Given the description of an element on the screen output the (x, y) to click on. 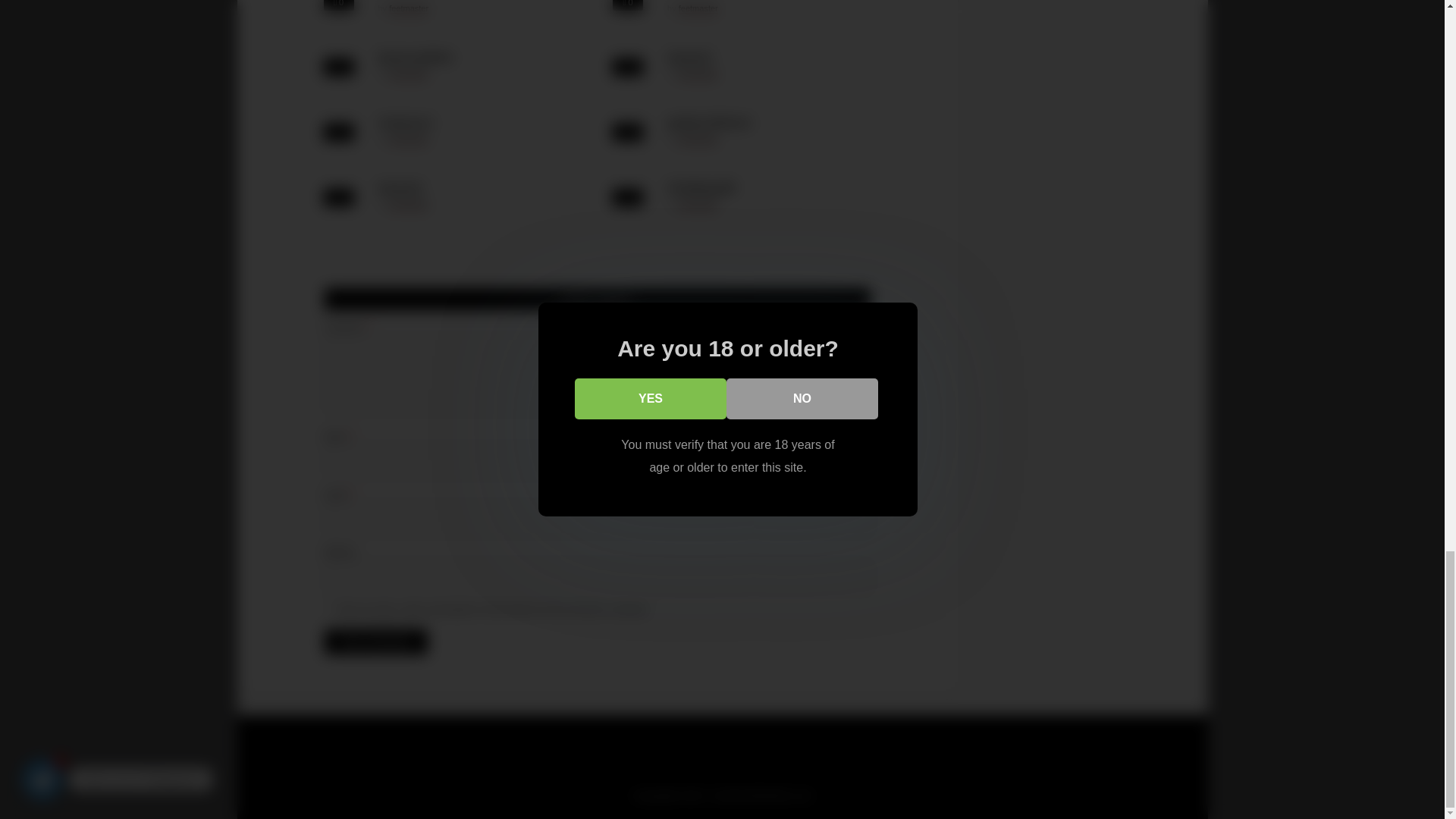
Posts by feetmaster (408, 8)
Posts by feetmaster (408, 204)
Posts by feetmaster (408, 139)
Posts by feetmaster (408, 73)
Post Comment (376, 641)
yes (329, 608)
Posts by feetmaster (697, 73)
Posts by feetmaster (697, 139)
Posts by feetmaster (697, 8)
Posts by feetmaster (697, 204)
